Given the description of an element on the screen output the (x, y) to click on. 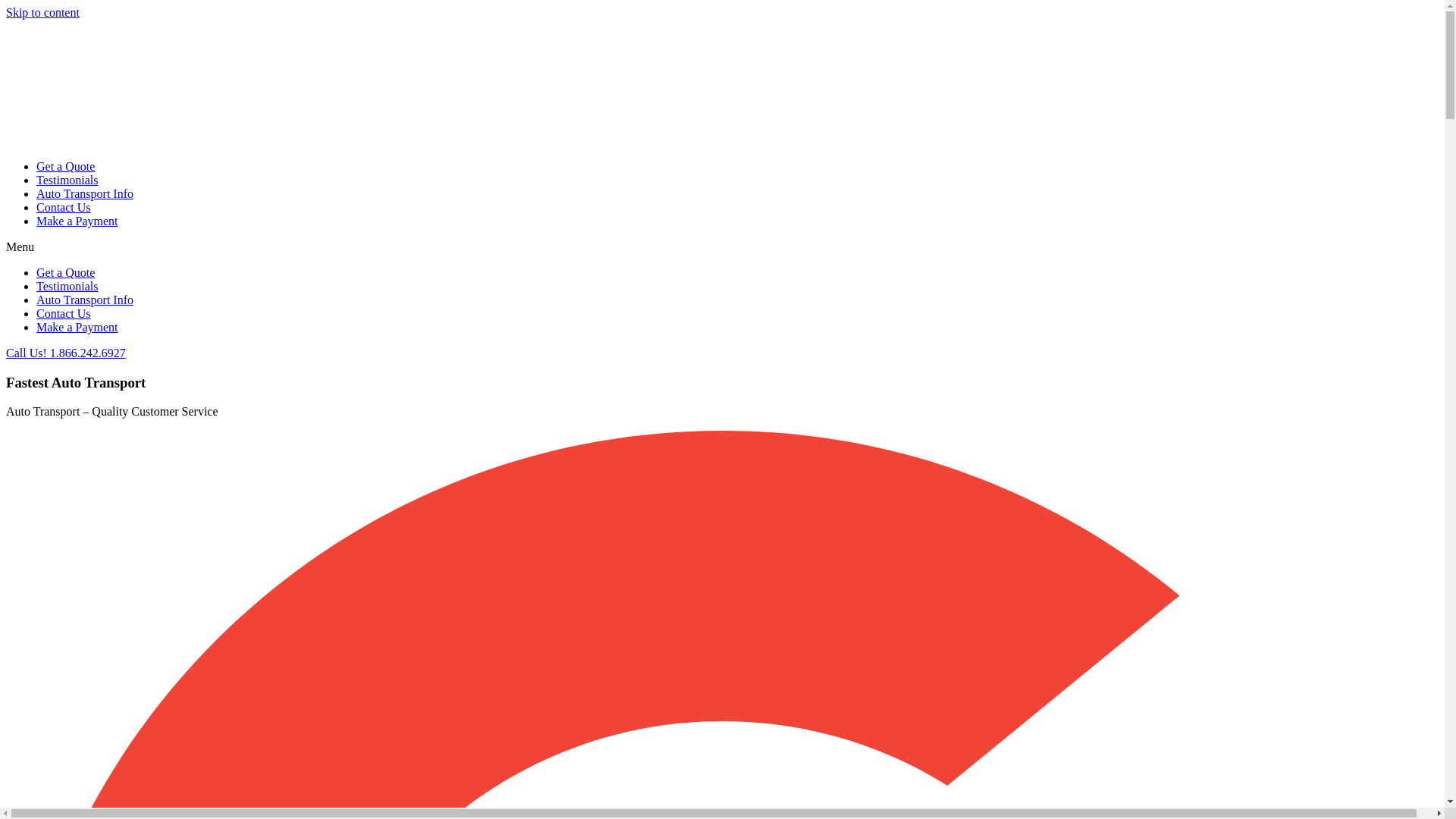
Make a Payment (76, 327)
Get a Quote (65, 272)
Skip to content (42, 11)
Testimonials (67, 286)
Auto Transport Info (84, 299)
Testimonials (67, 179)
Auto Transport Info (84, 193)
Call Us! 1.866.242.6927 (65, 352)
Contact Us (63, 206)
Contact Us (63, 313)
